Given the description of an element on the screen output the (x, y) to click on. 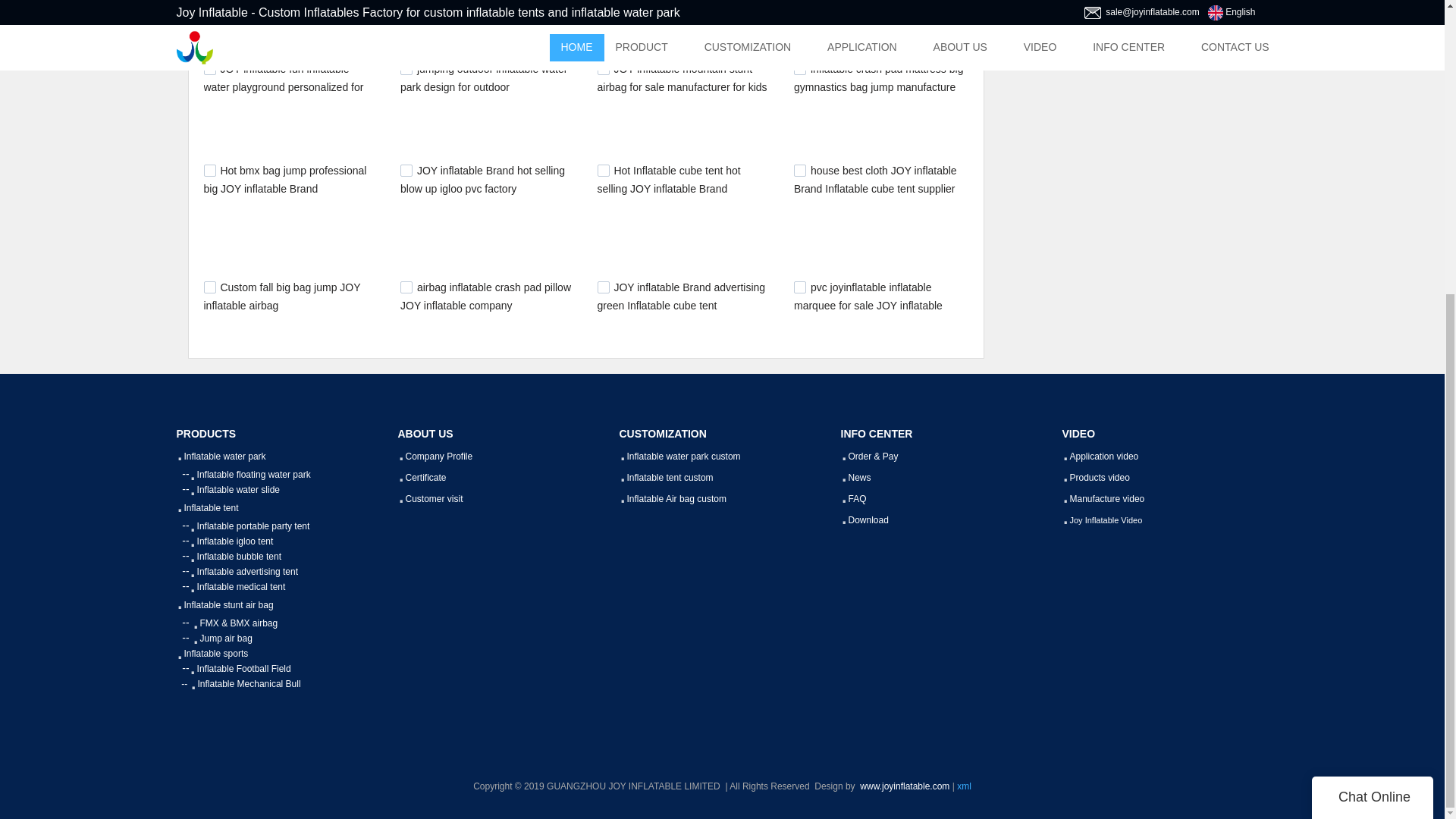
1224 (406, 170)
5657 (603, 69)
airbag inflatable crash pad pillow JOY inflatable company (485, 296)
1217 (603, 170)
1131 (799, 170)
1107 (603, 287)
